Given the description of an element on the screen output the (x, y) to click on. 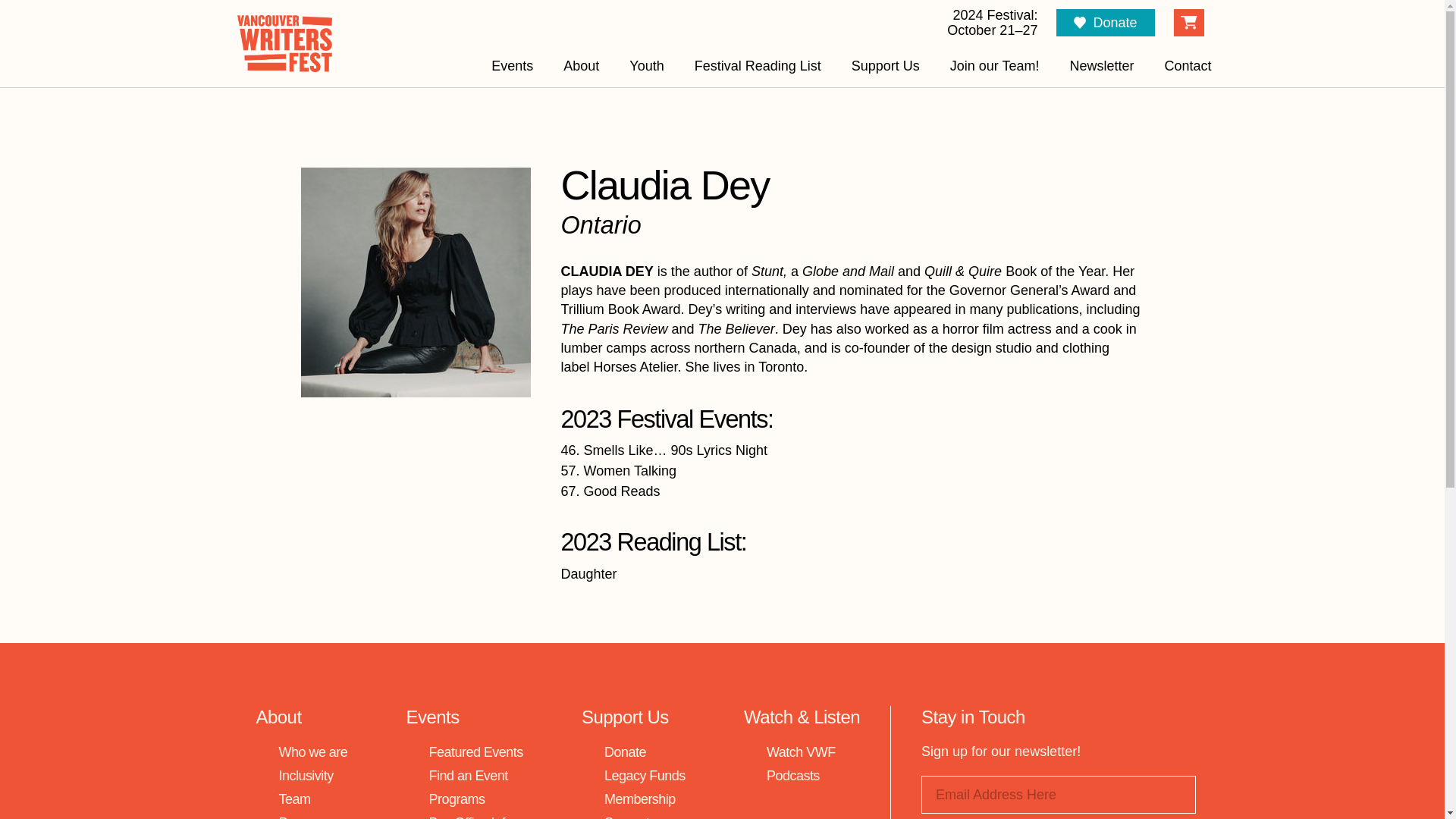
Cart (1188, 22)
Donate (1105, 22)
Support Us (885, 66)
About (580, 66)
Events (512, 66)
Youth (646, 66)
Newsletter (1101, 66)
Join our Team! (994, 66)
Festival Reading List (757, 66)
Contact (1187, 66)
